Given the description of an element on the screen output the (x, y) to click on. 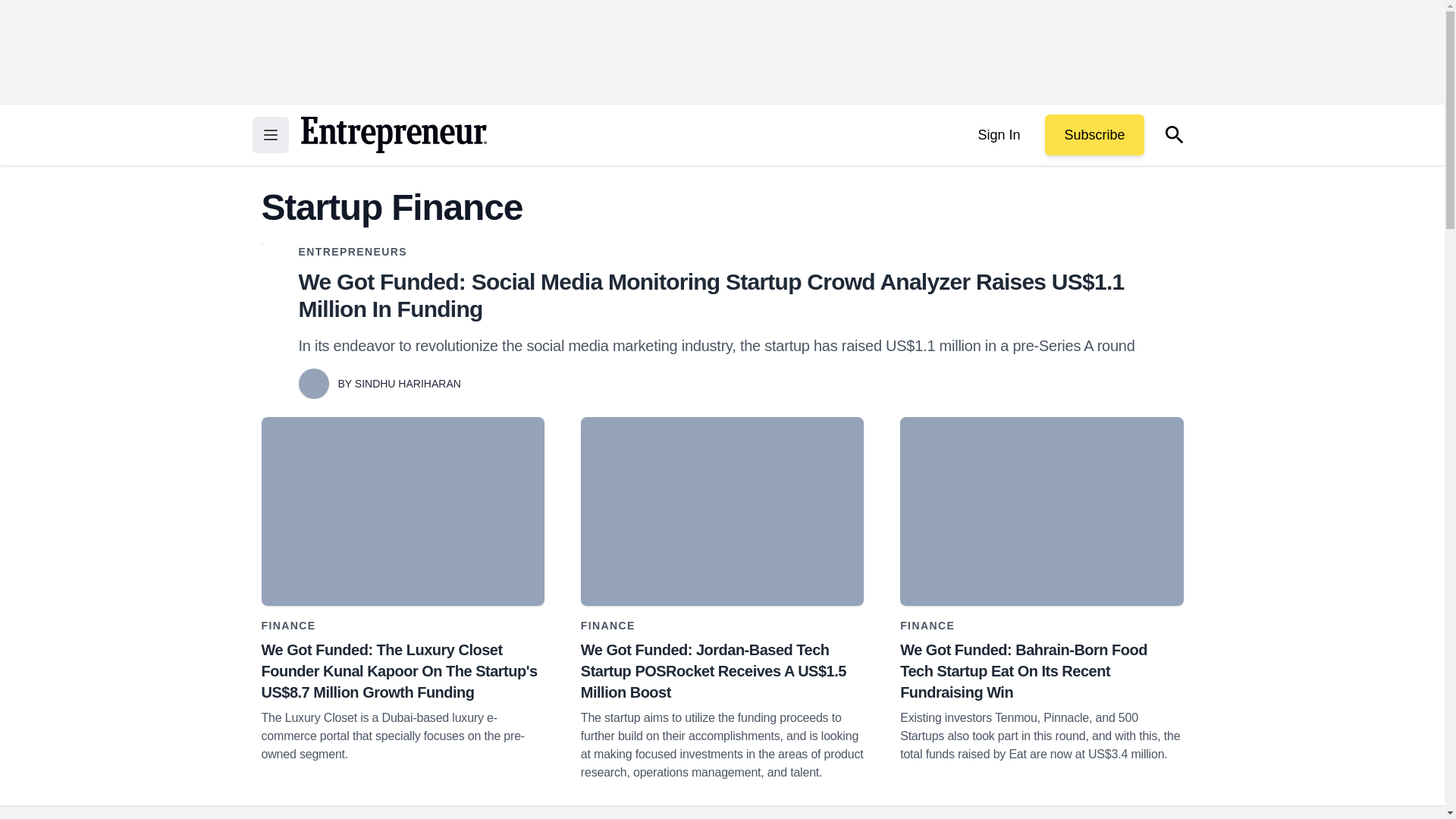
Return to the home page (392, 135)
Subscribe (1093, 134)
Sign In (998, 134)
